Given the description of an element on the screen output the (x, y) to click on. 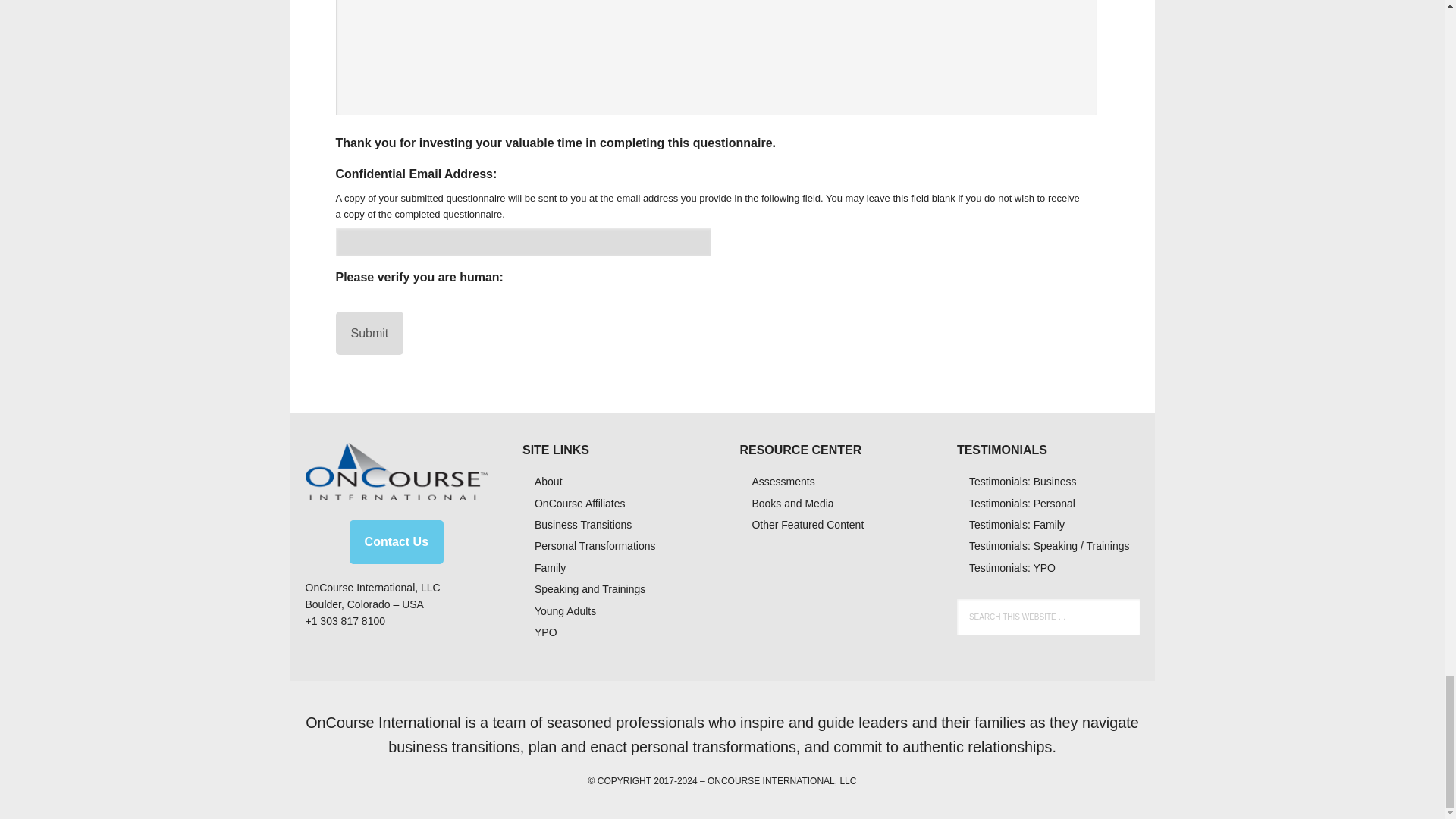
Submit (368, 333)
Submit (368, 333)
